Given the description of an element on the screen output the (x, y) to click on. 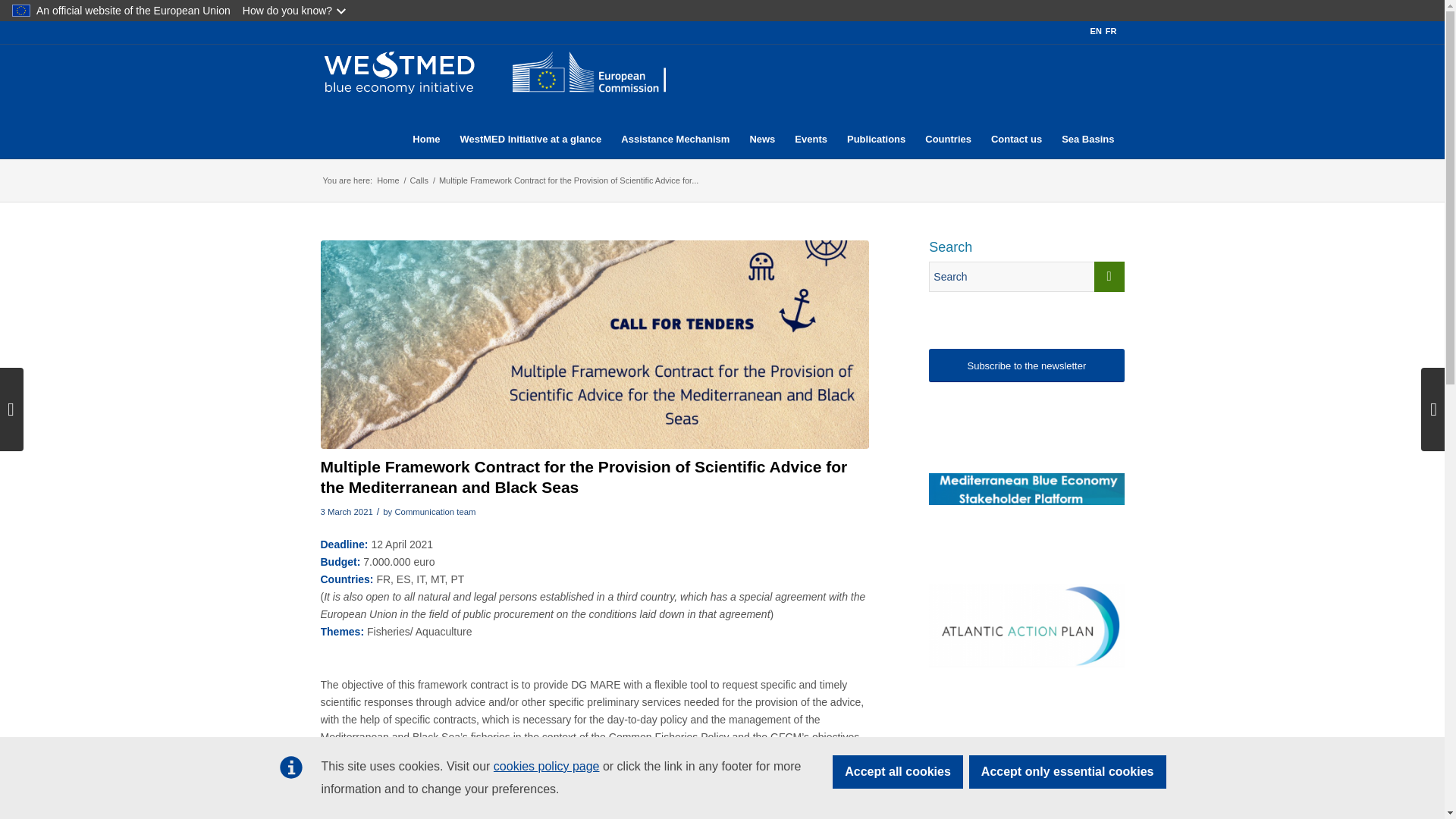
Accept only essential cookies (1067, 771)
Posts by Communication team (435, 511)
EN (1096, 31)
Accept all cookies (897, 771)
Assistance Mechanism (675, 101)
WestMED Initiative at a glance (530, 101)
How do you know? (295, 10)
WestMED (387, 180)
FR (1110, 31)
cookies policy page (546, 766)
Calls (418, 180)
Home (387, 180)
